Given the description of an element on the screen output the (x, y) to click on. 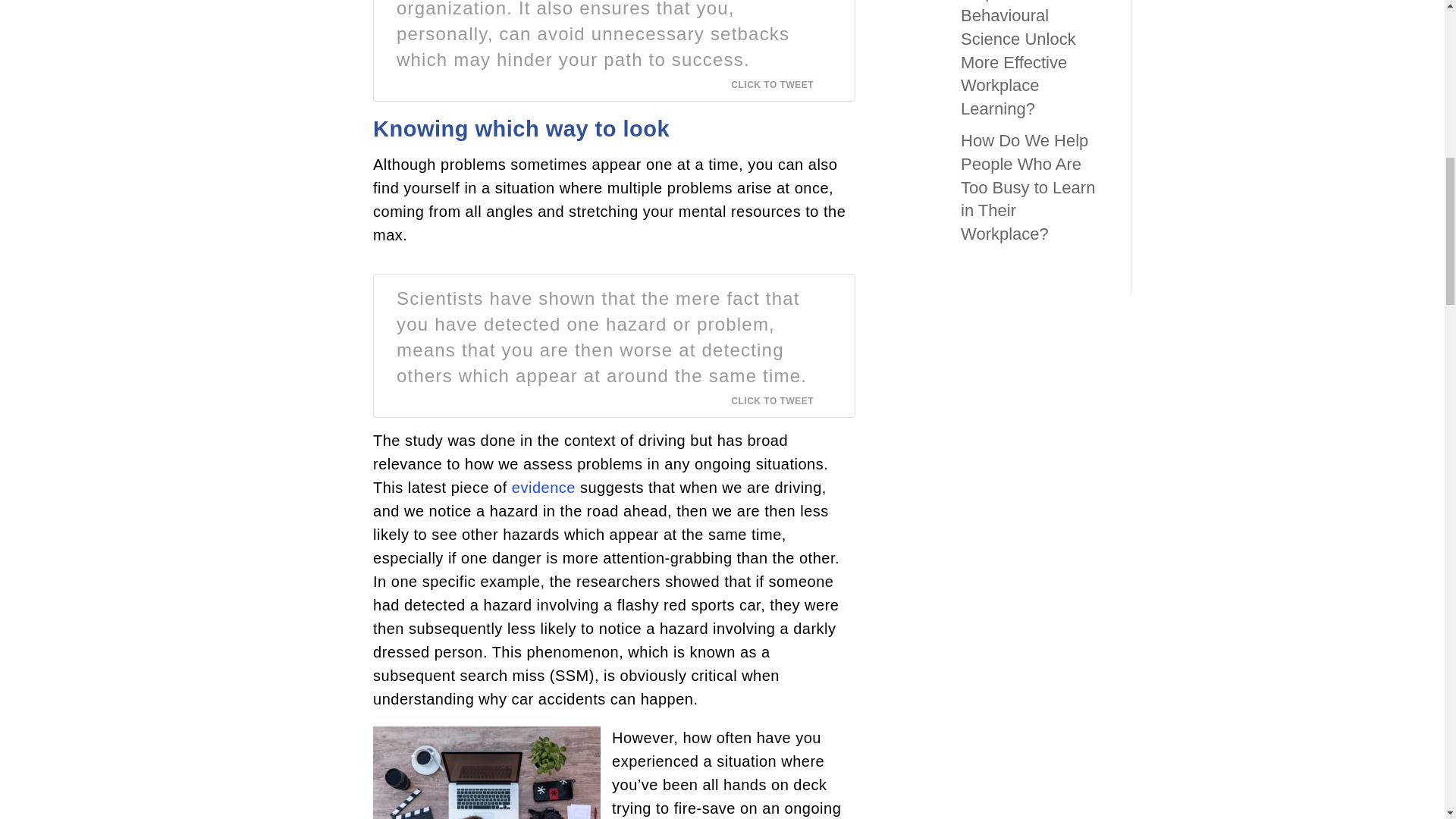
CLICK TO TWEET (780, 84)
evidence (543, 487)
Problems at work (485, 772)
CLICK TO TWEET (780, 400)
